Given the description of an element on the screen output the (x, y) to click on. 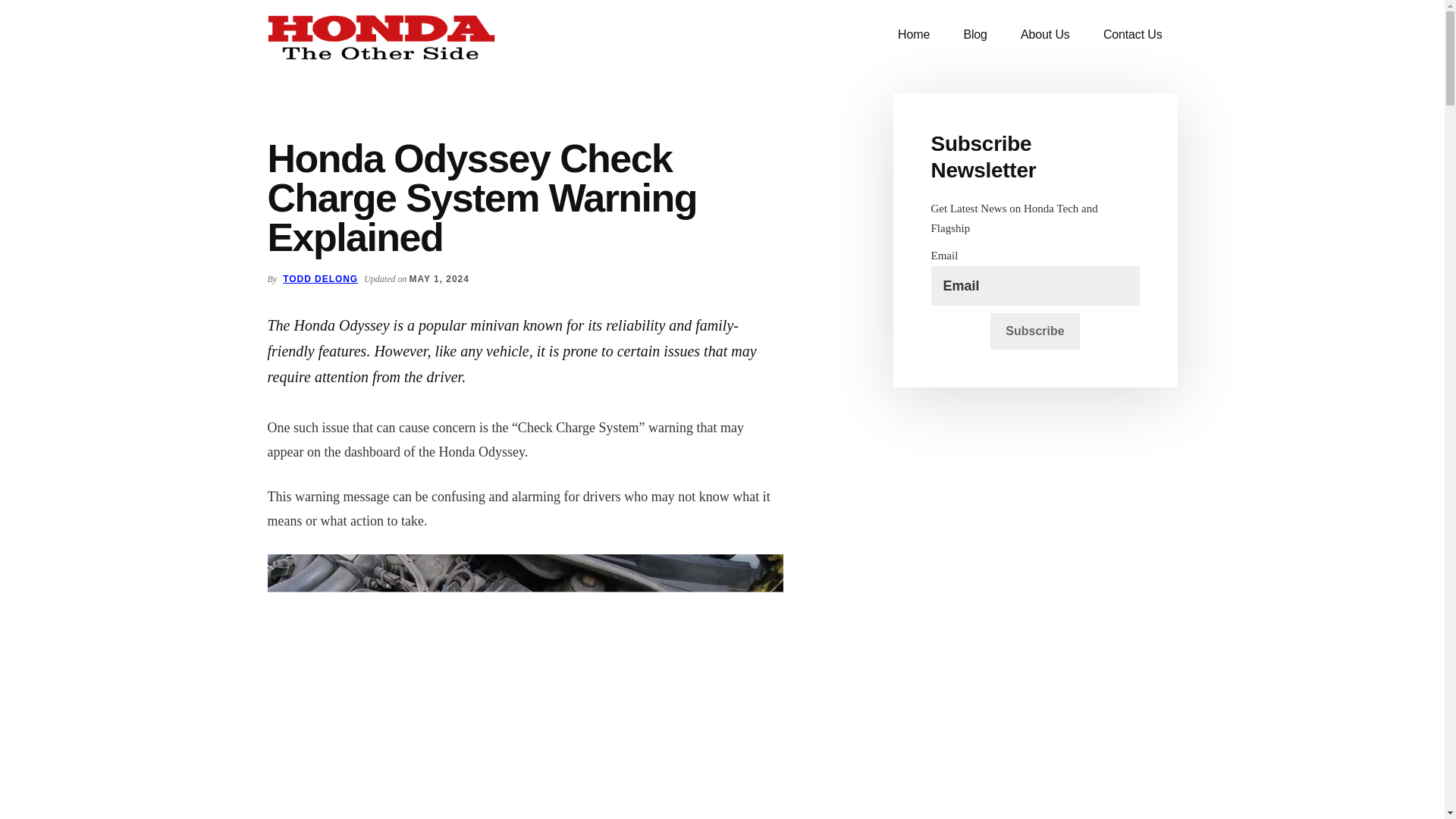
Contact Us (1132, 34)
TODD DELONG (320, 278)
Blog (974, 34)
About Us (1045, 34)
Home (913, 34)
